Given the description of an element on the screen output the (x, y) to click on. 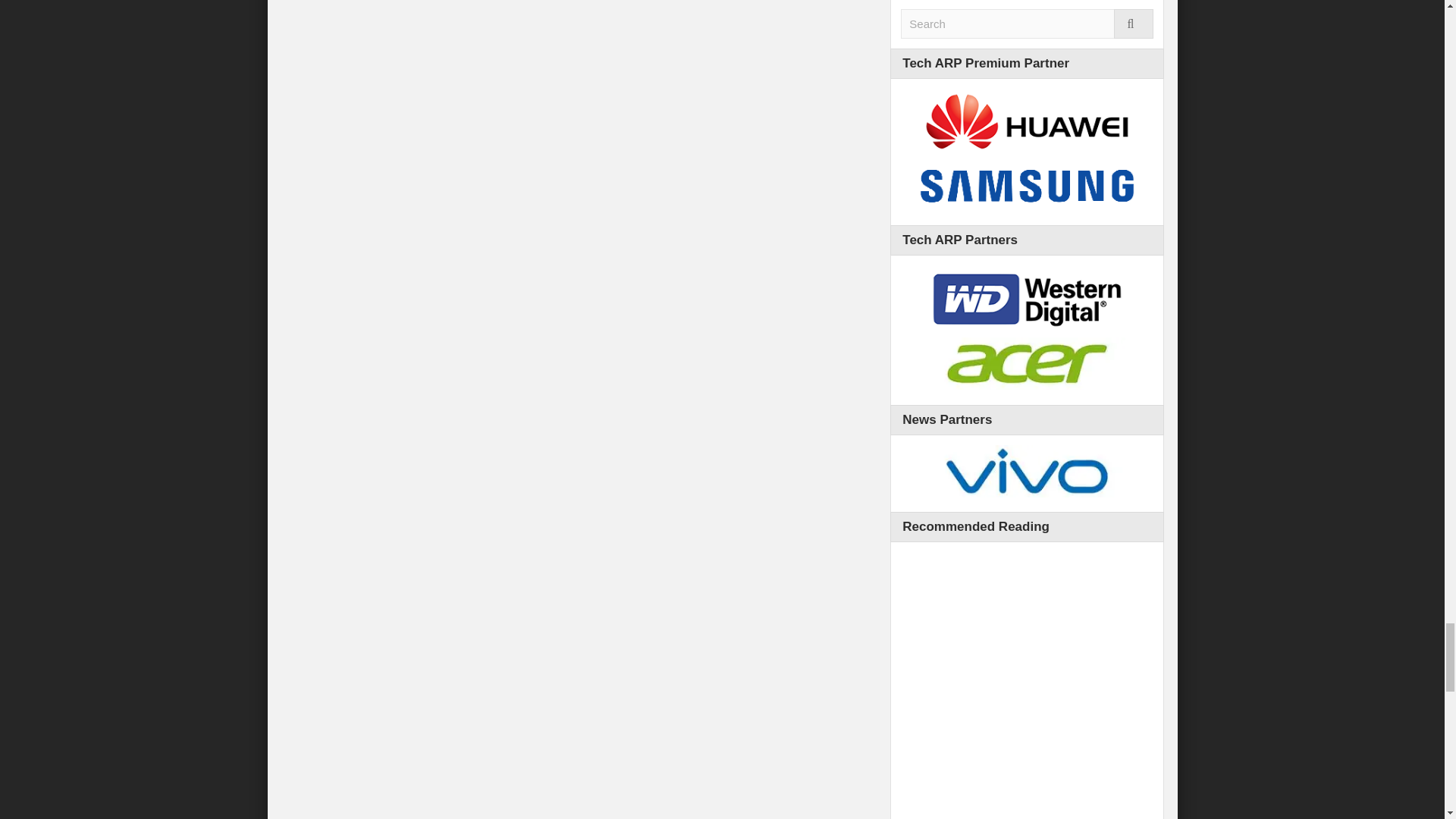
Search (1027, 23)
Search (1027, 23)
